Given the description of an element on the screen output the (x, y) to click on. 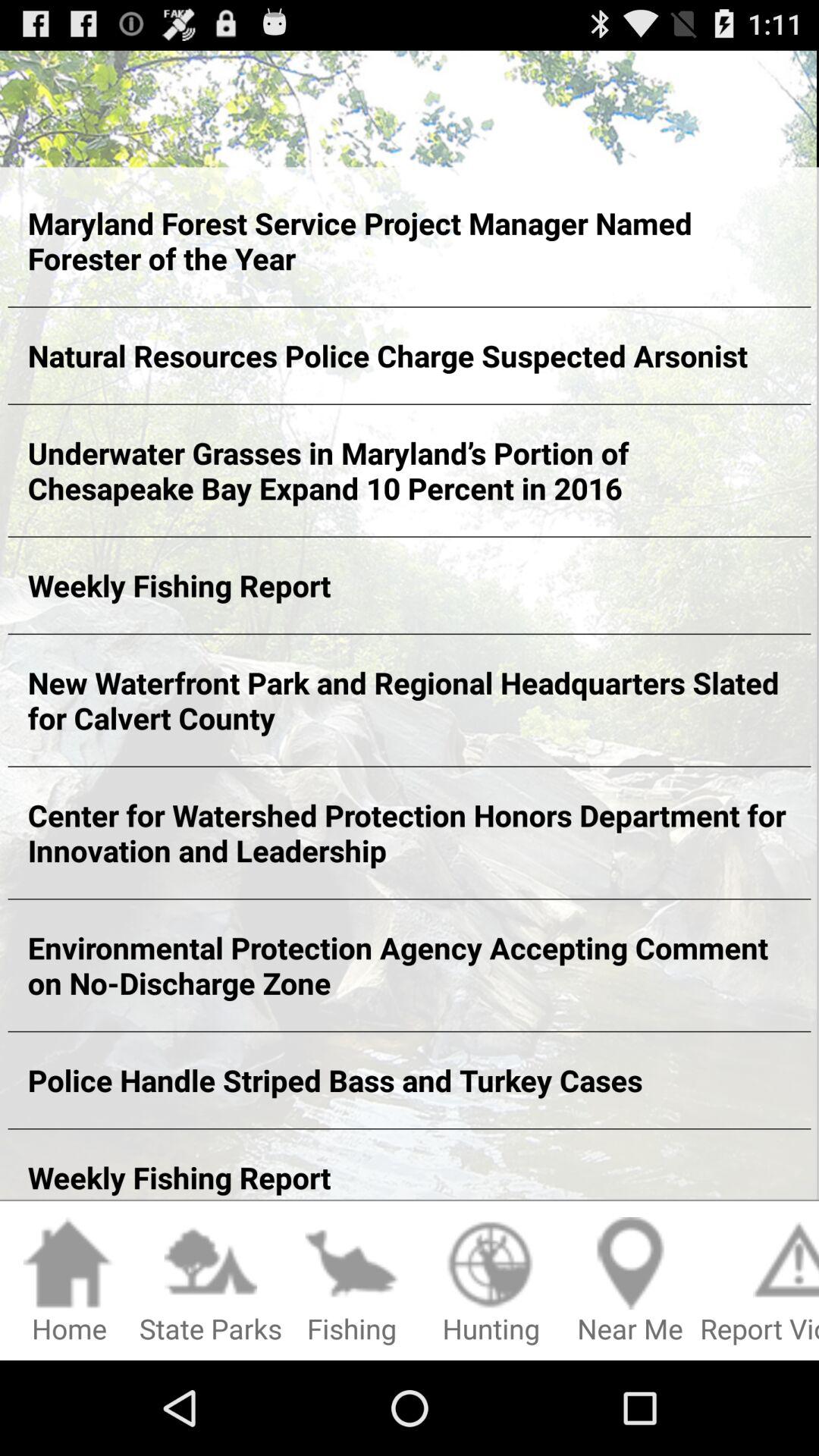
turn on item below the maryland forest service (409, 355)
